Given the description of an element on the screen output the (x, y) to click on. 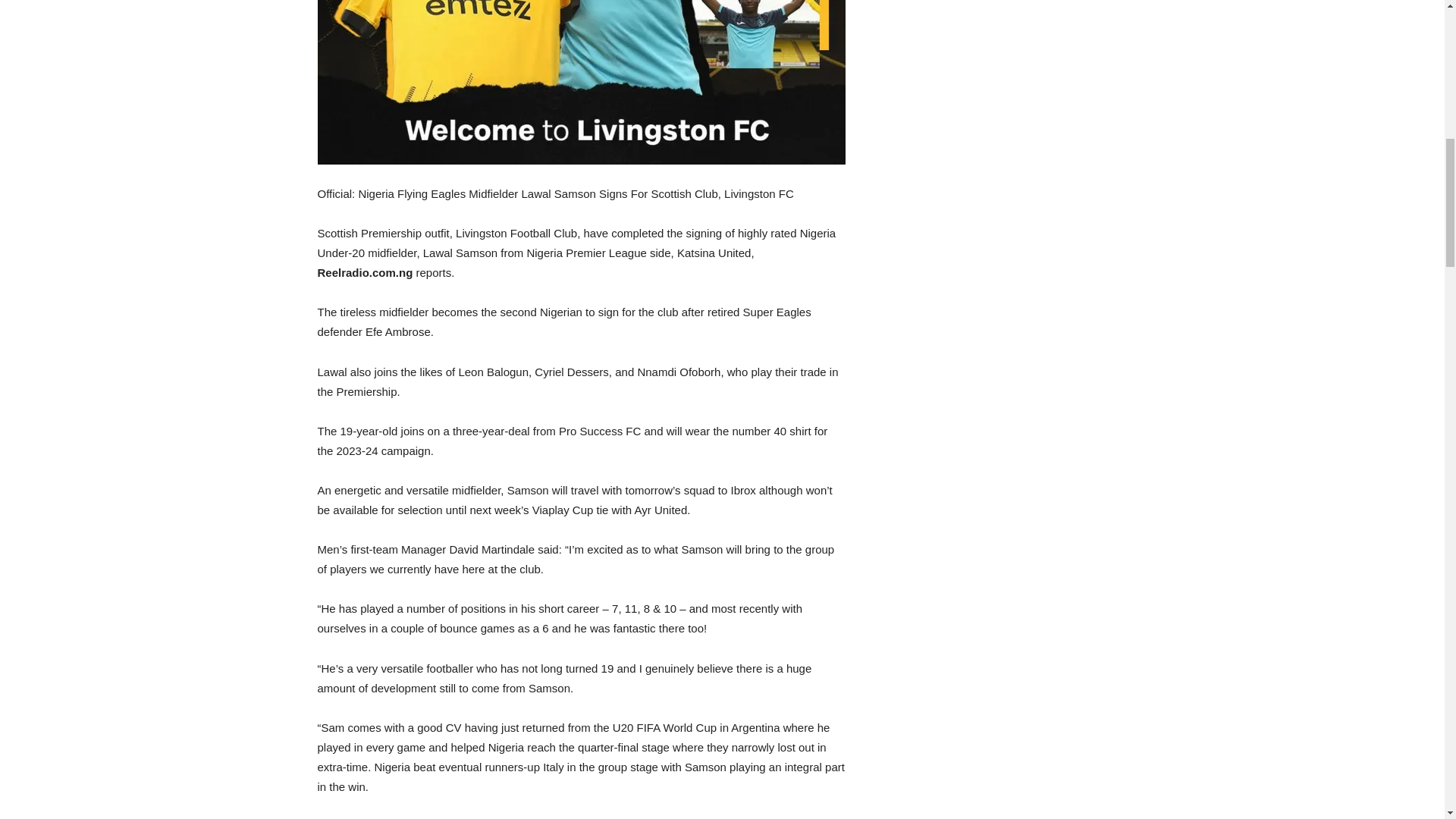
WhatsApp-Image-2023-08-10-at-18.04.41-copy.jpeg (580, 82)
